Given the description of an element on the screen output the (x, y) to click on. 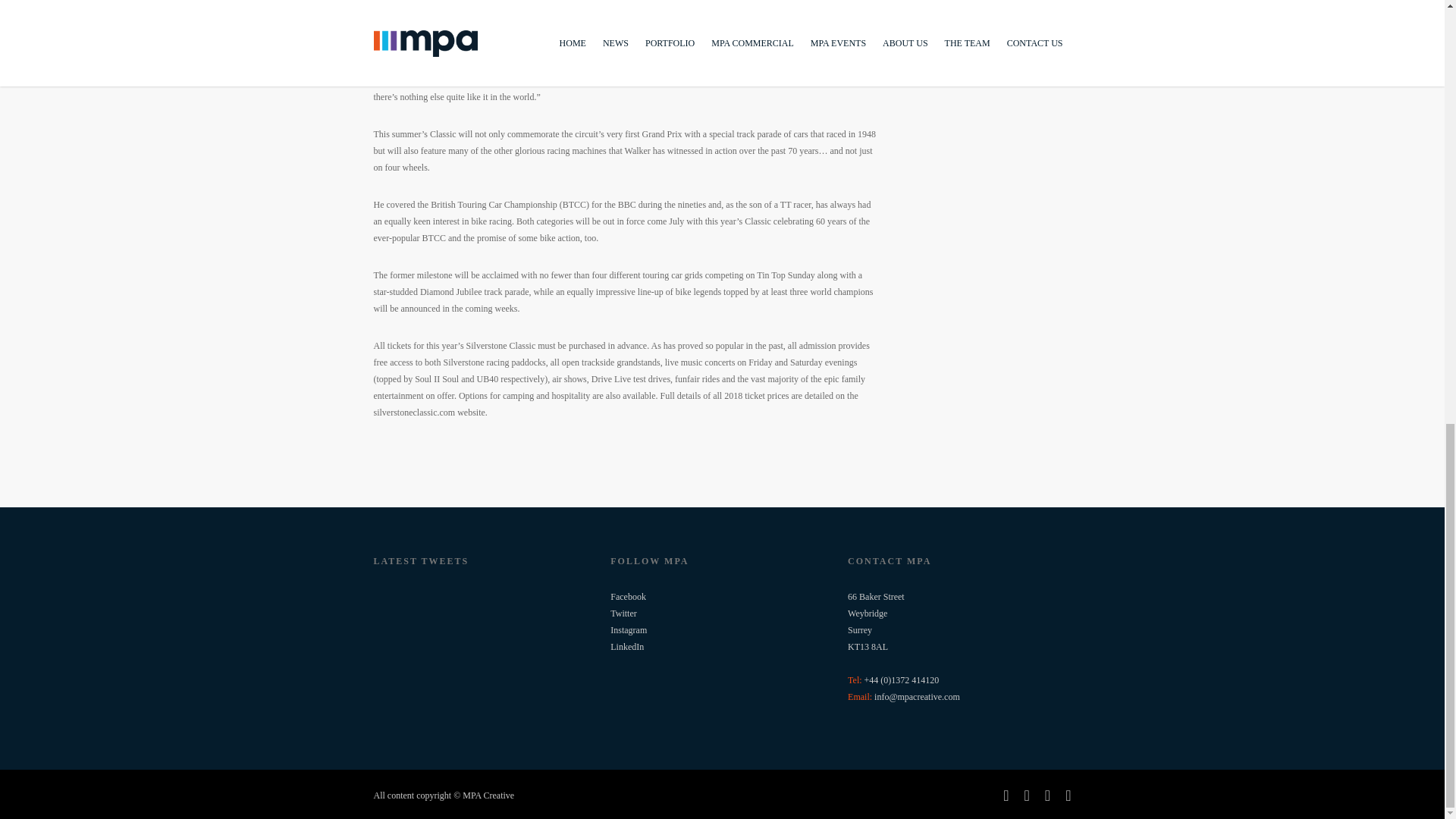
LinkedIn (626, 646)
Facebook (628, 596)
Twitter (623, 613)
Instagram (628, 629)
